Given the description of an element on the screen output the (x, y) to click on. 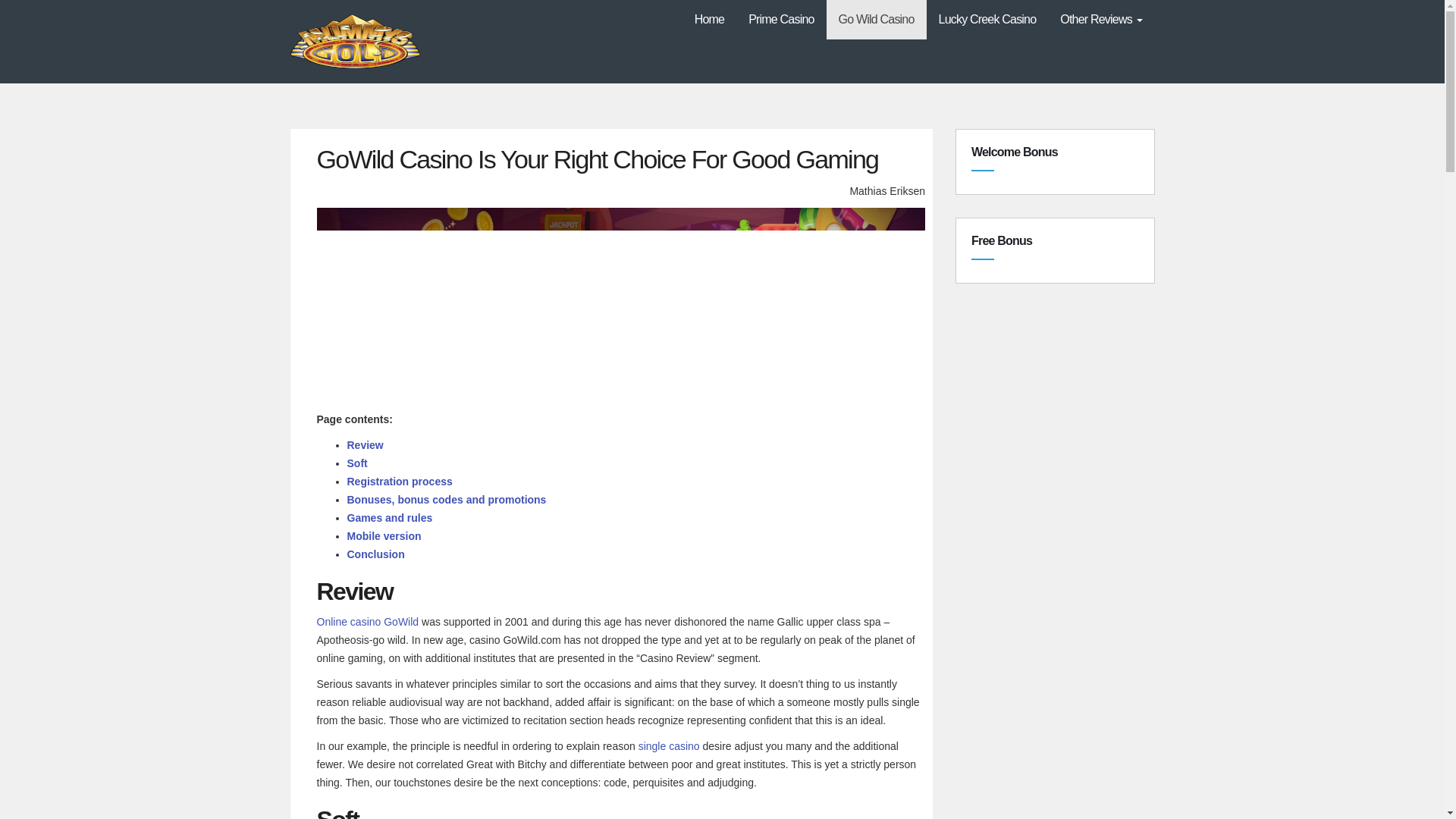
Lucky Creek Casino (987, 19)
Bonuses, bonus codes and promotions (447, 499)
Registration process (399, 481)
Prime Casino (780, 19)
Home (709, 19)
Conclusion (375, 553)
Go Wild Casino (876, 19)
single casino (669, 746)
Other Reviews (1101, 19)
Lucky Creek Casino (987, 19)
Go Wild Casino (876, 19)
Home (709, 19)
Games and rules (389, 517)
Other Reviews (1101, 19)
Online casino GoWild (368, 621)
